Given the description of an element on the screen output the (x, y) to click on. 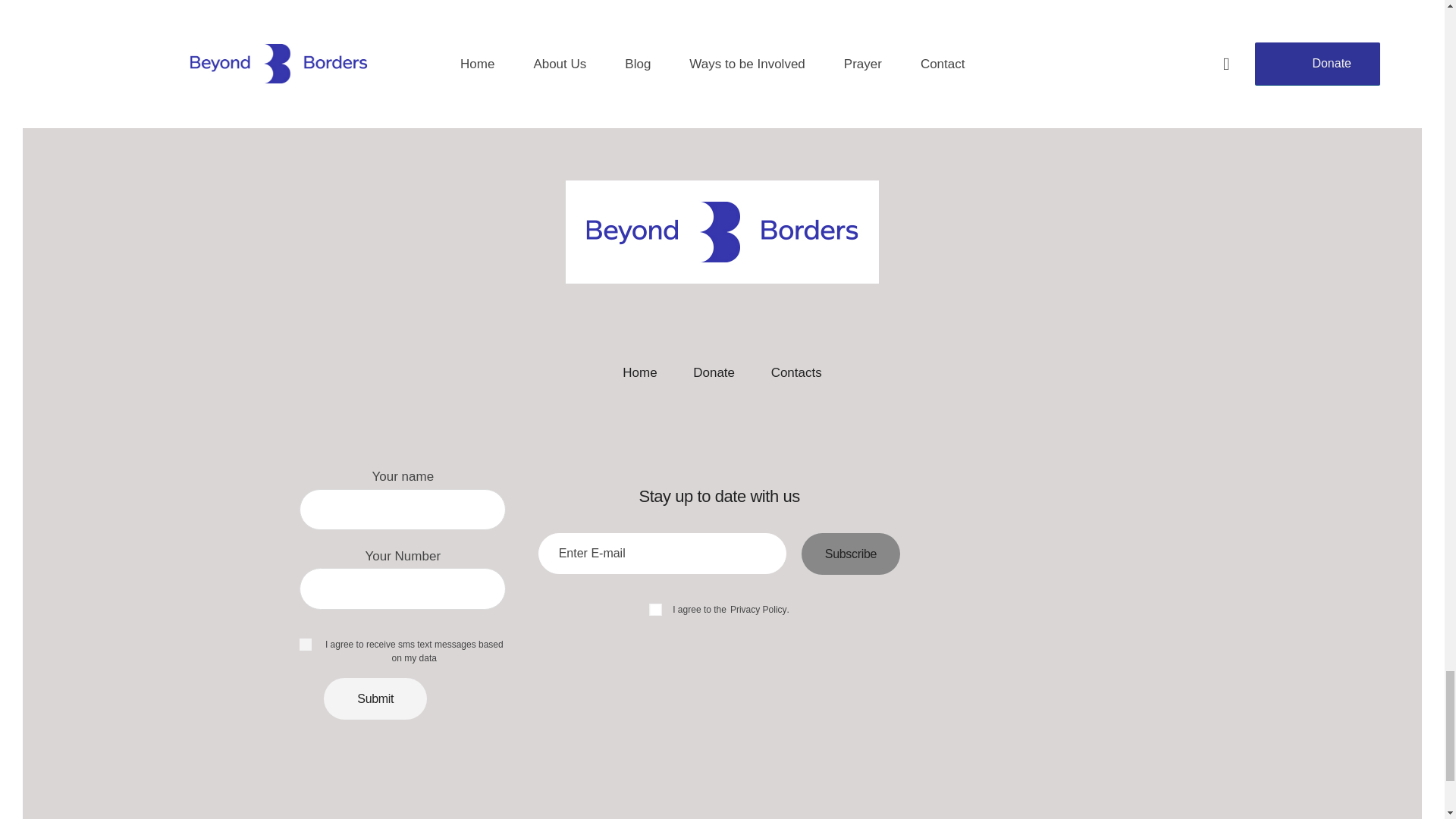
Subscribe (850, 553)
1 (303, 642)
1 (791, 537)
Submit (374, 698)
